Given the description of an element on the screen output the (x, y) to click on. 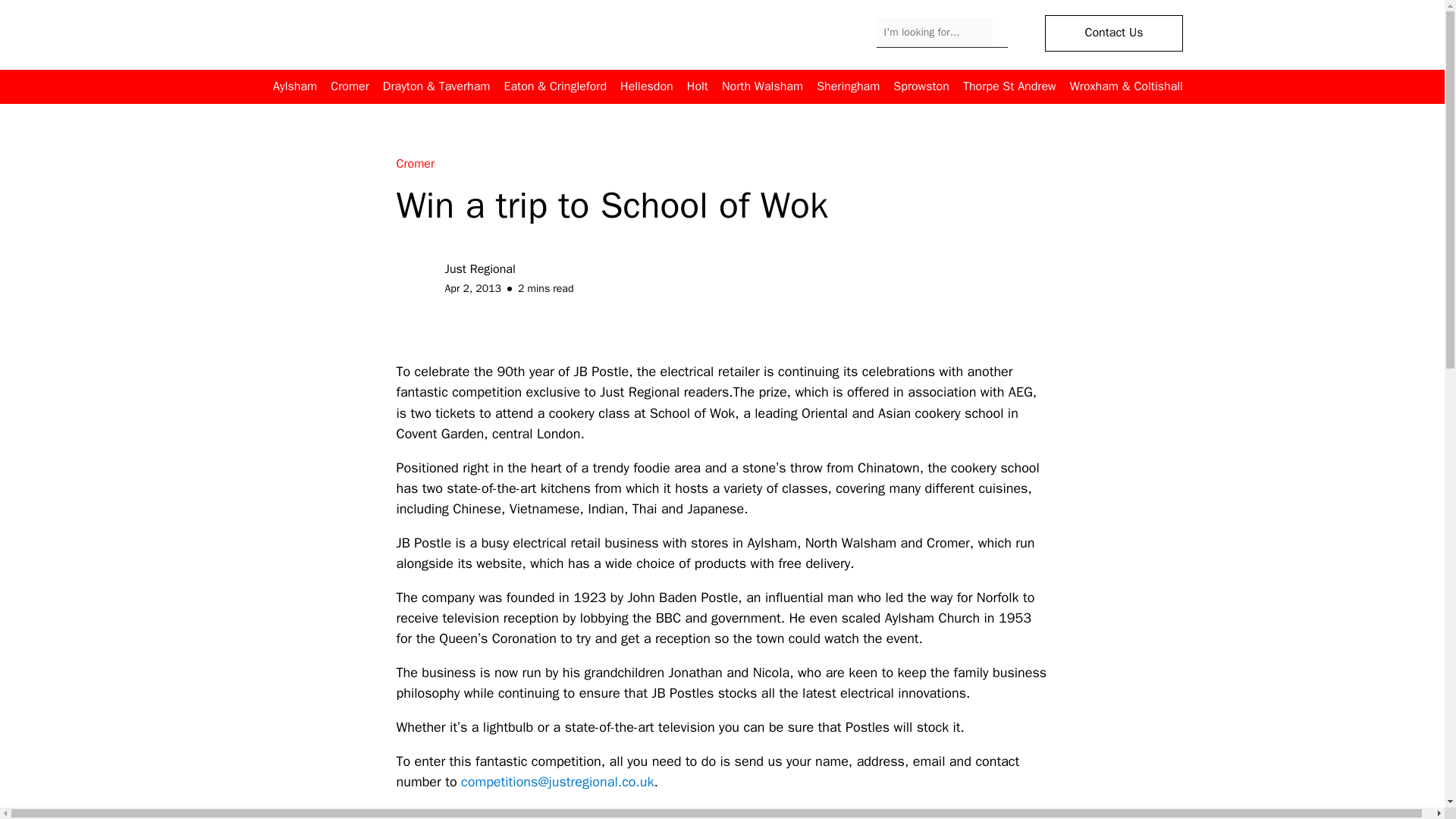
Sprowston (921, 86)
Sheringham (847, 86)
Aylsham (295, 86)
Hellesdon (646, 86)
Cromer (349, 86)
Thorpe St Andrew (1009, 86)
North Walsham (762, 86)
Contact Us (1113, 33)
Holt (697, 86)
